Given the description of an element on the screen output the (x, y) to click on. 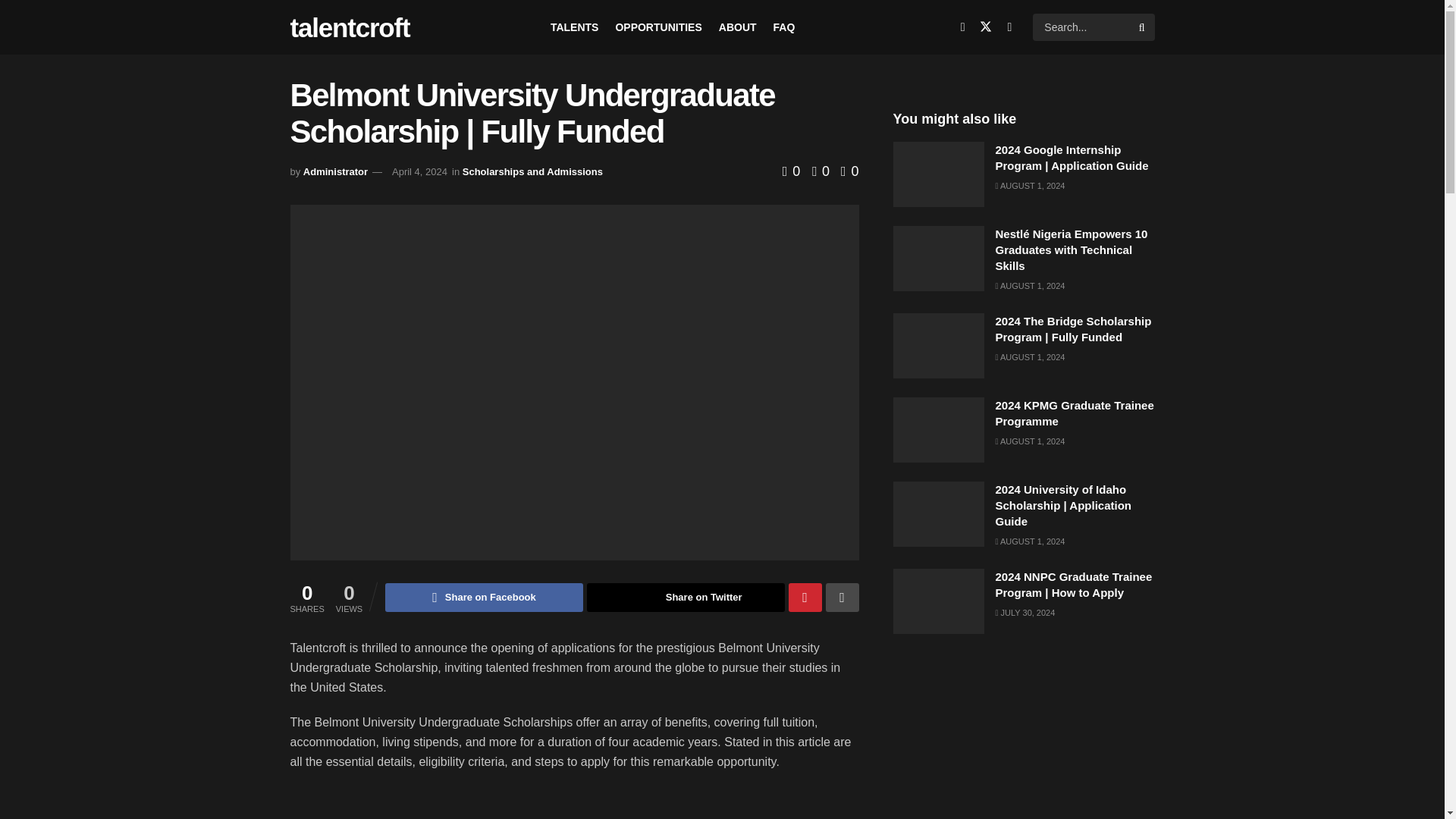
Scholarships and Admissions (532, 171)
Share on Facebook (484, 597)
0 (850, 171)
TALENTS (574, 27)
April 4, 2024 (418, 171)
Share on Twitter (685, 597)
0 (794, 171)
talentcroft (349, 26)
OPPORTUNITIES (657, 27)
0 (816, 171)
Administrator (335, 171)
